Given the description of an element on the screen output the (x, y) to click on. 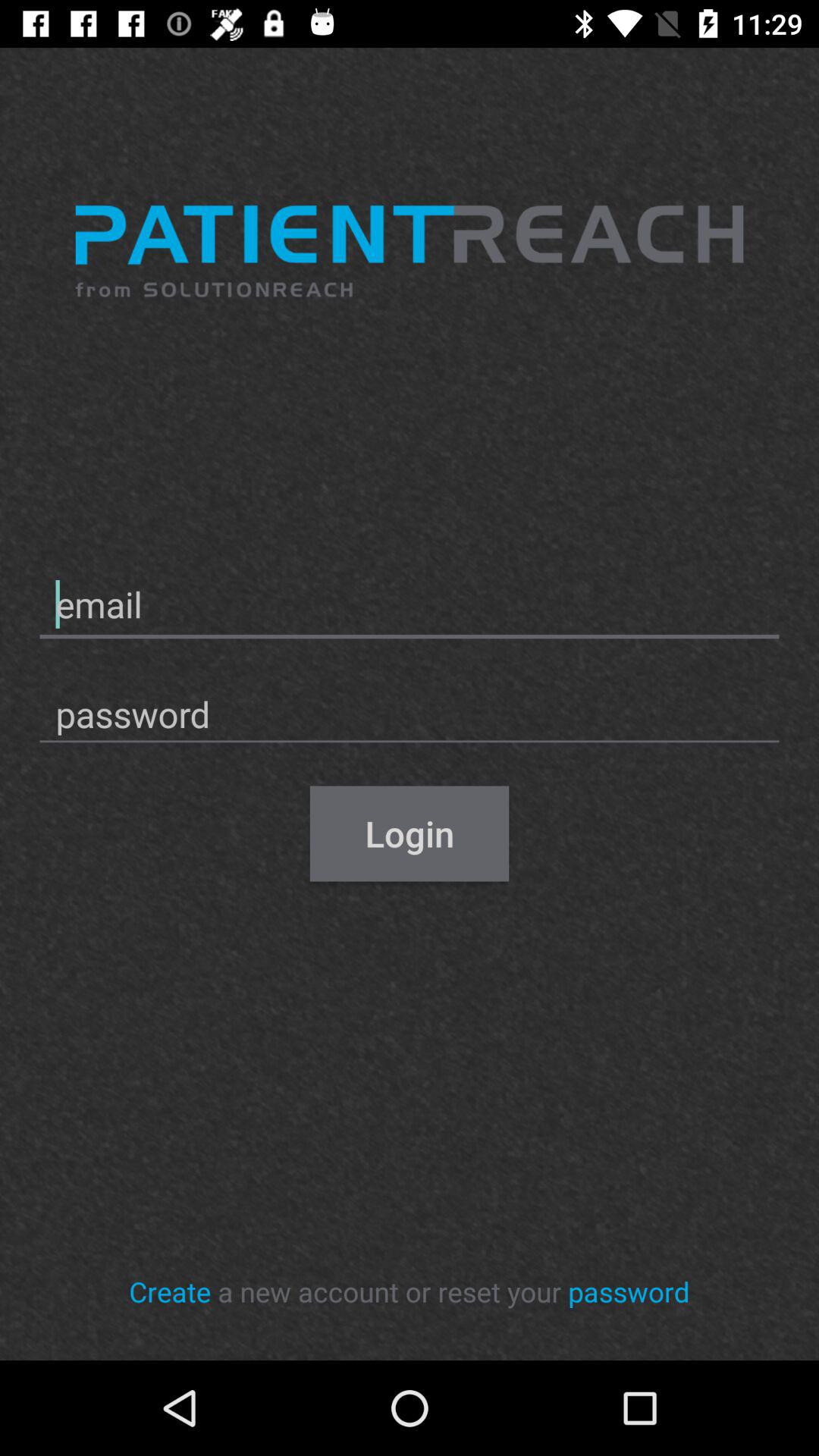
launch the icon next to the a new account (628, 1291)
